Given the description of an element on the screen output the (x, y) to click on. 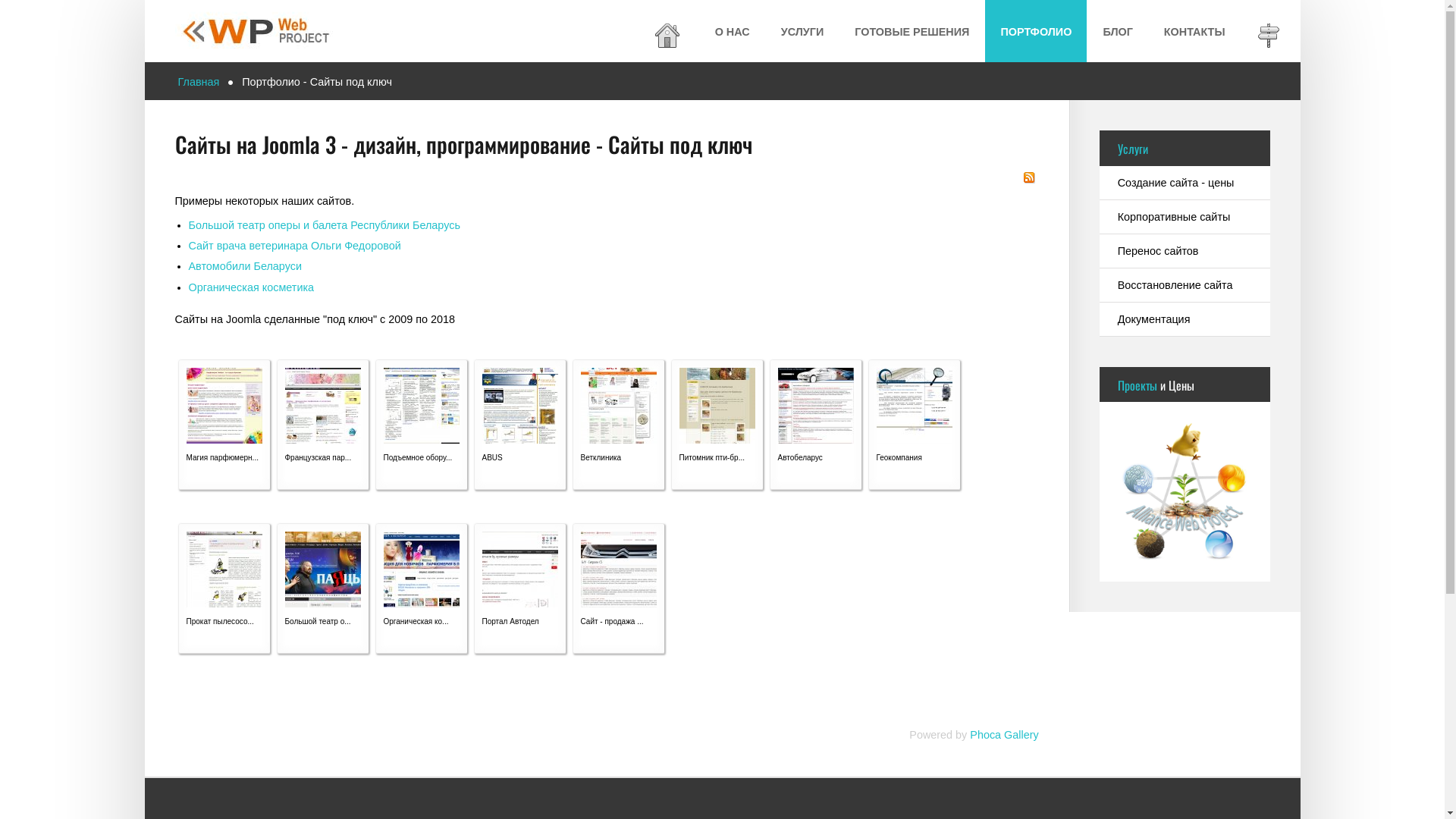
RSS Element type: hover (1028, 176)
ABUS Element type: hover (520, 404)
Phoca Gallery Element type: text (1003, 734)
